Given the description of an element on the screen output the (x, y) to click on. 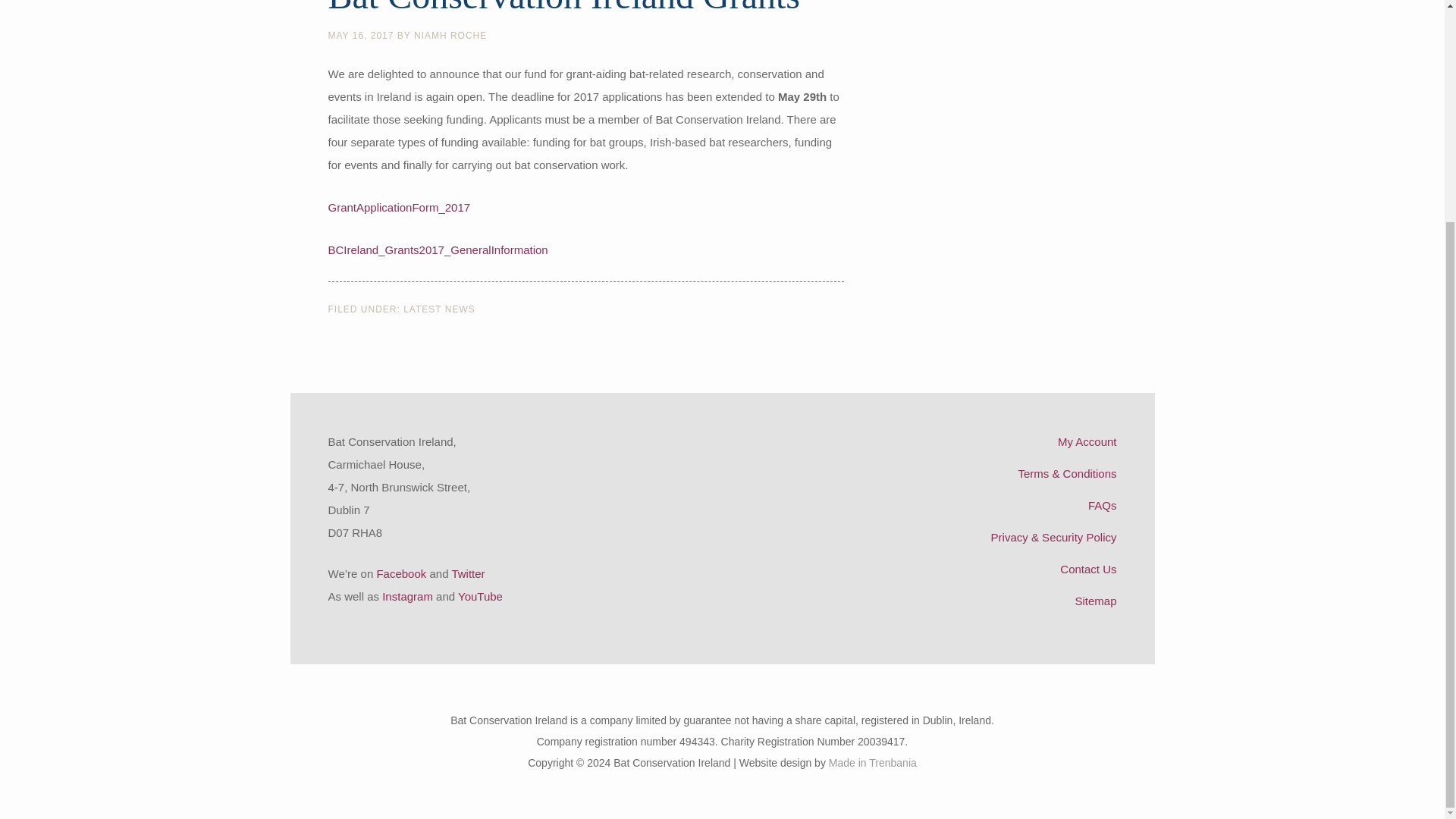
Made in Trenbania (872, 762)
